Given the description of an element on the screen output the (x, y) to click on. 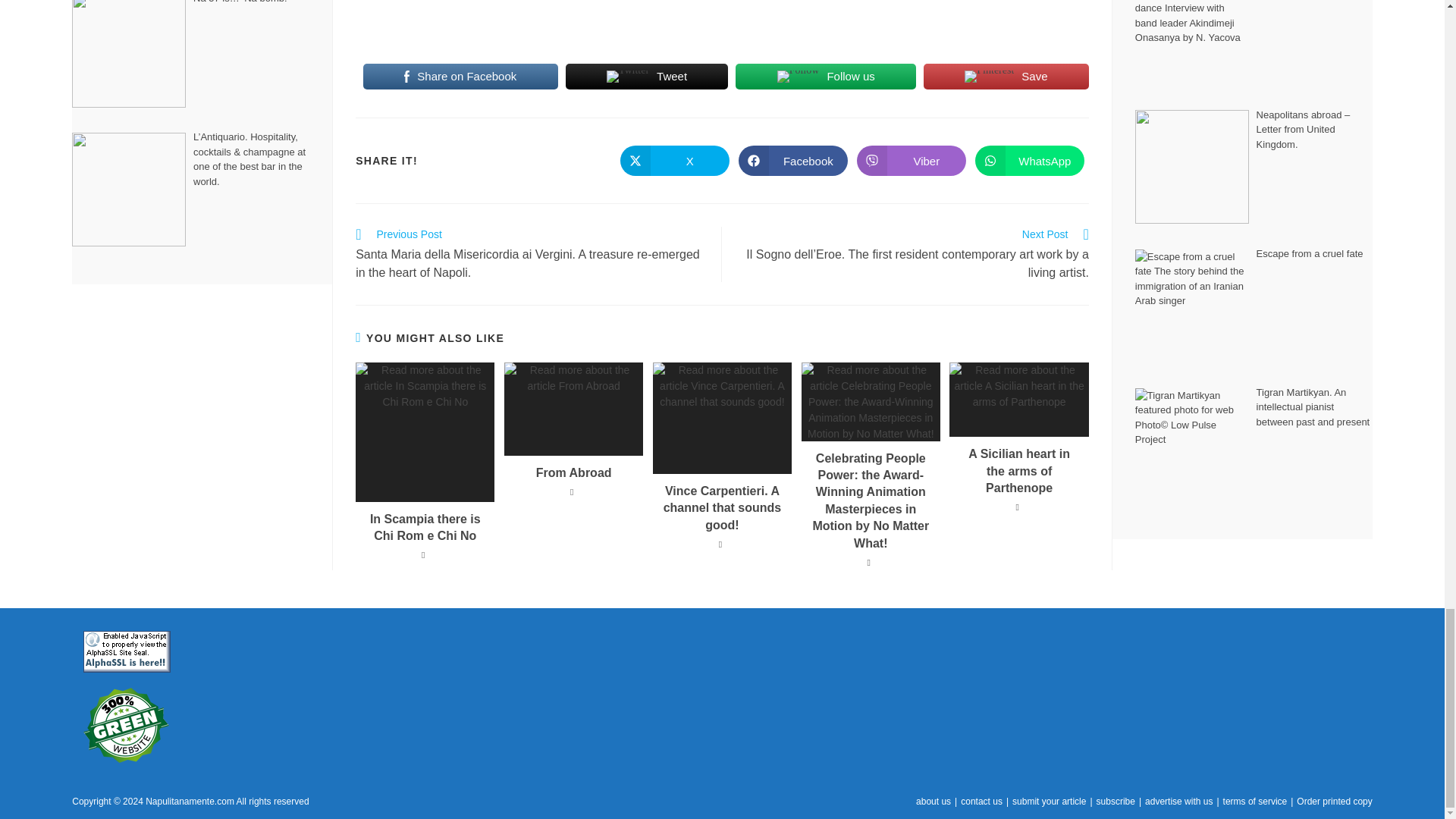
SSL Certificate (126, 651)
SSL Certificates (126, 650)
